Given the description of an element on the screen output the (x, y) to click on. 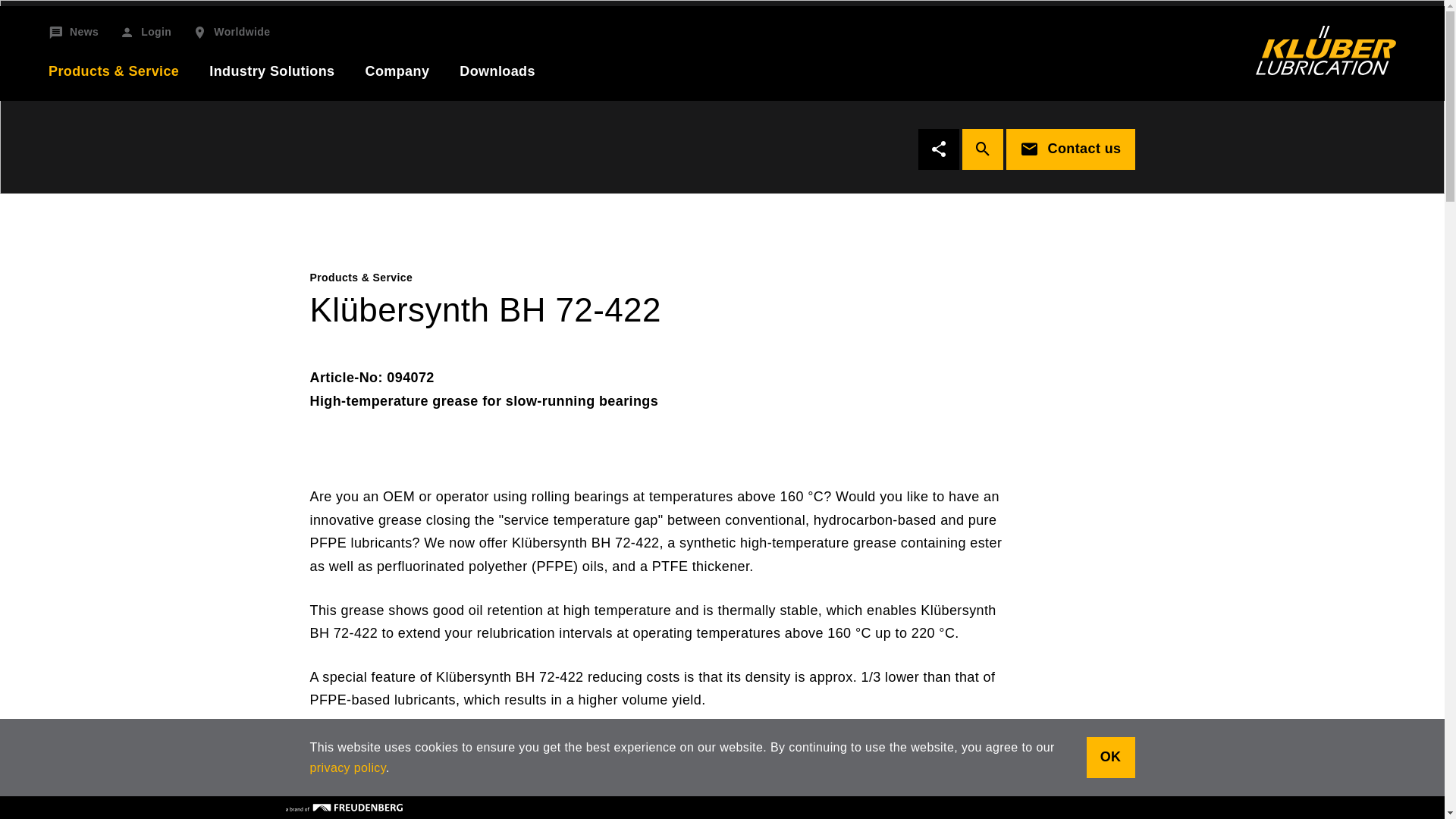
Worldwide (230, 32)
Login (145, 32)
privacy policy (346, 767)
OK (1110, 757)
News (73, 32)
